Given the description of an element on the screen output the (x, y) to click on. 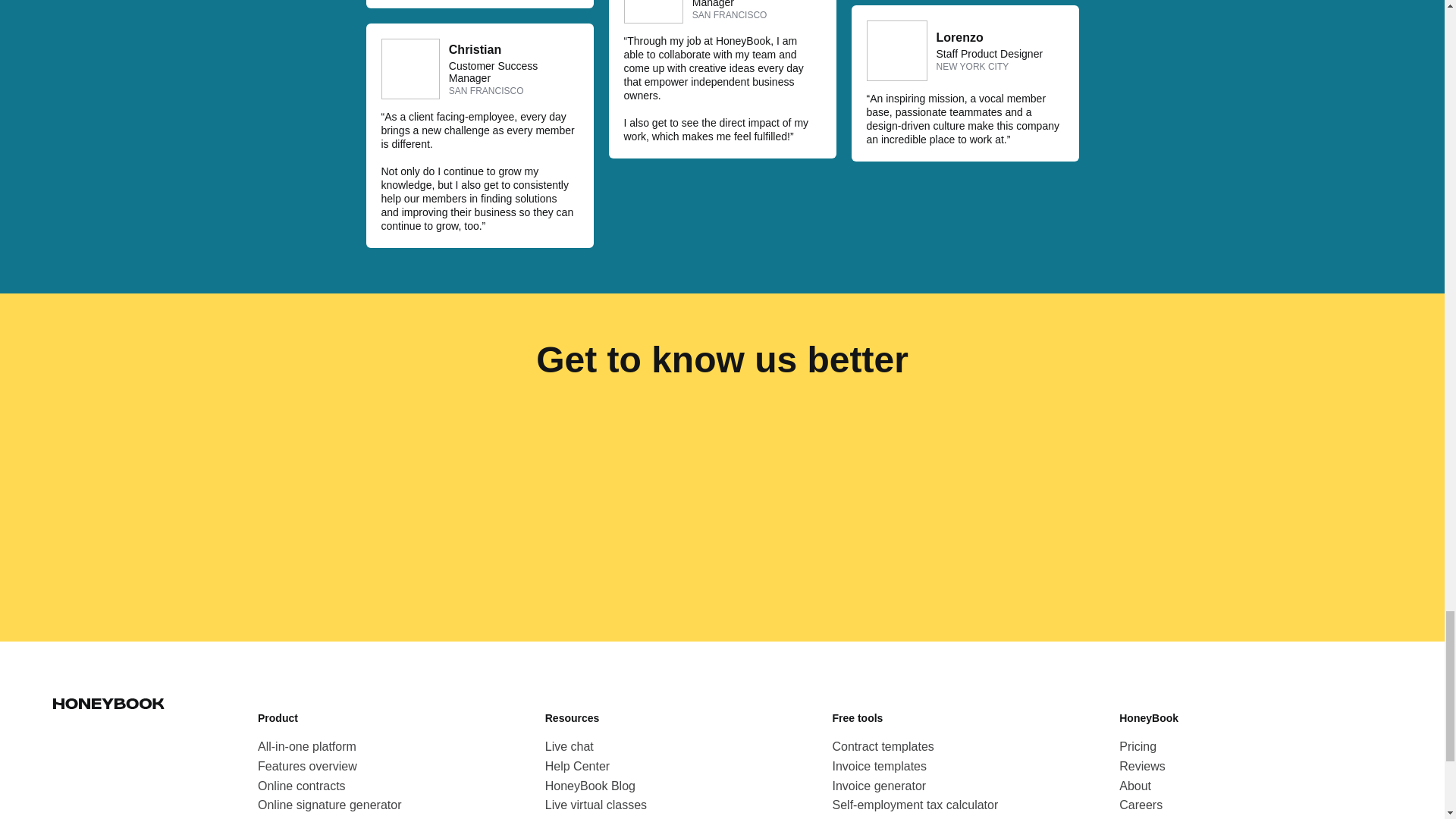
HoneyBook business academy (627, 816)
Pricing (1137, 746)
Contract templates (883, 746)
Features overview (306, 766)
Help Center (577, 766)
Online signature generator (329, 804)
Self-employment tax calculator (915, 804)
HoneyBook Blog (589, 786)
Invoice templates (879, 766)
Invoice generator (879, 786)
Email signature generator (901, 816)
Live virtual classes (595, 804)
Online document signing (324, 816)
All-in-one platform (306, 746)
Online contracts (301, 786)
